Given the description of an element on the screen output the (x, y) to click on. 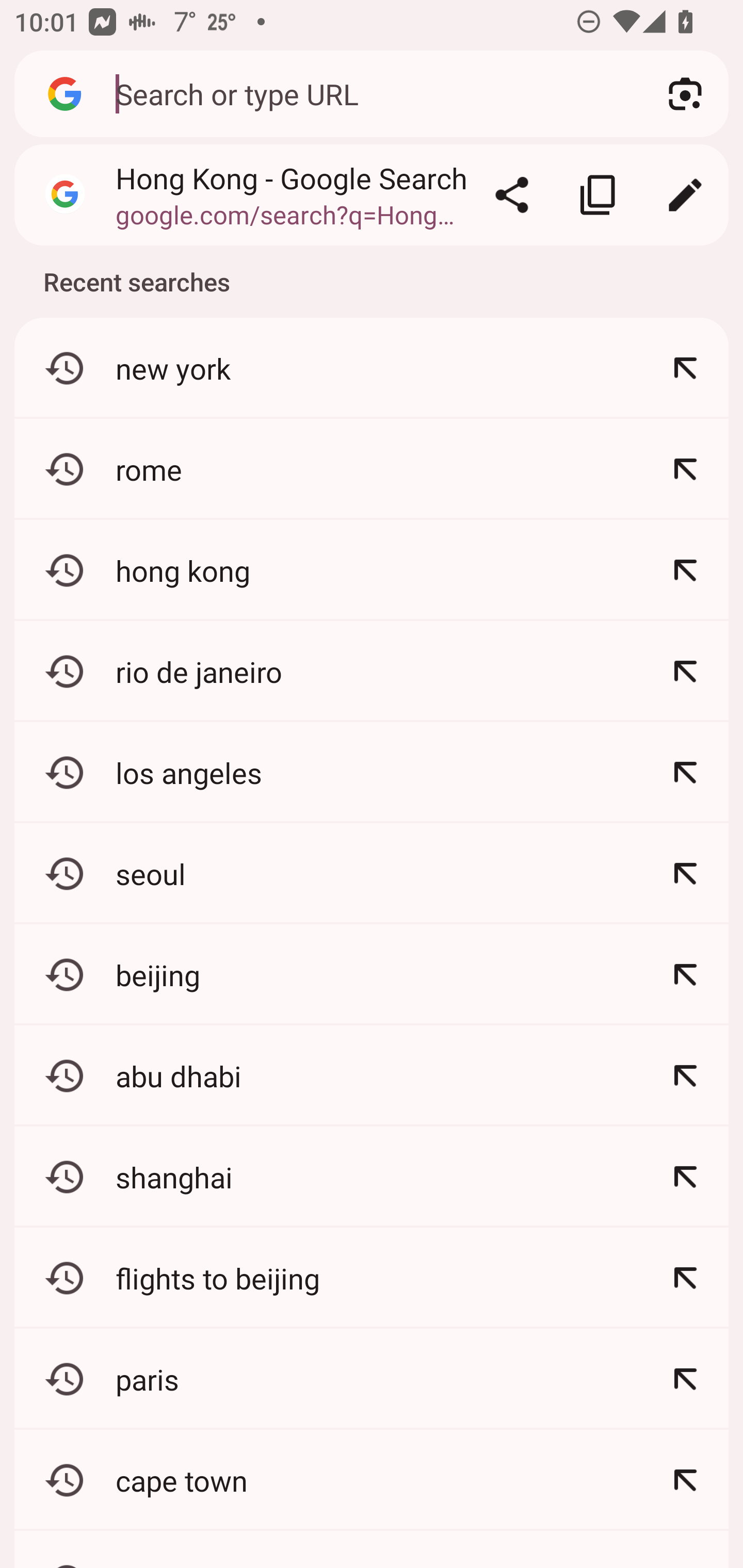
Search with your camera using Google Lens (684, 93)
Search or type URL (367, 92)
Share… (511, 195)
Copy link (598, 195)
Edit (684, 195)
new york Refine: new york (371, 368)
Refine: new york (684, 368)
rome Refine: rome (371, 469)
Refine: rome (684, 469)
hong kong Refine: hong kong (371, 570)
Refine: hong kong (684, 570)
rio de janeiro Refine: rio de janeiro (371, 671)
Refine: rio de janeiro (684, 671)
los angeles Refine: los angeles (371, 772)
Refine: los angeles (684, 772)
seoul Refine: seoul (371, 873)
Refine: seoul (684, 873)
beijing Refine: beijing (371, 974)
Refine: beijing (684, 974)
abu dhabi Refine: abu dhabi (371, 1075)
Refine: abu dhabi (684, 1075)
shanghai Refine: shanghai (371, 1176)
Refine: shanghai (684, 1176)
flights to beijing Refine: flights to beijing (371, 1277)
Refine: flights to beijing (684, 1277)
paris Refine: paris (371, 1379)
Refine: paris (684, 1379)
cape town Refine: cape town (371, 1480)
Refine: cape town (684, 1480)
